Given the description of an element on the screen output the (x, y) to click on. 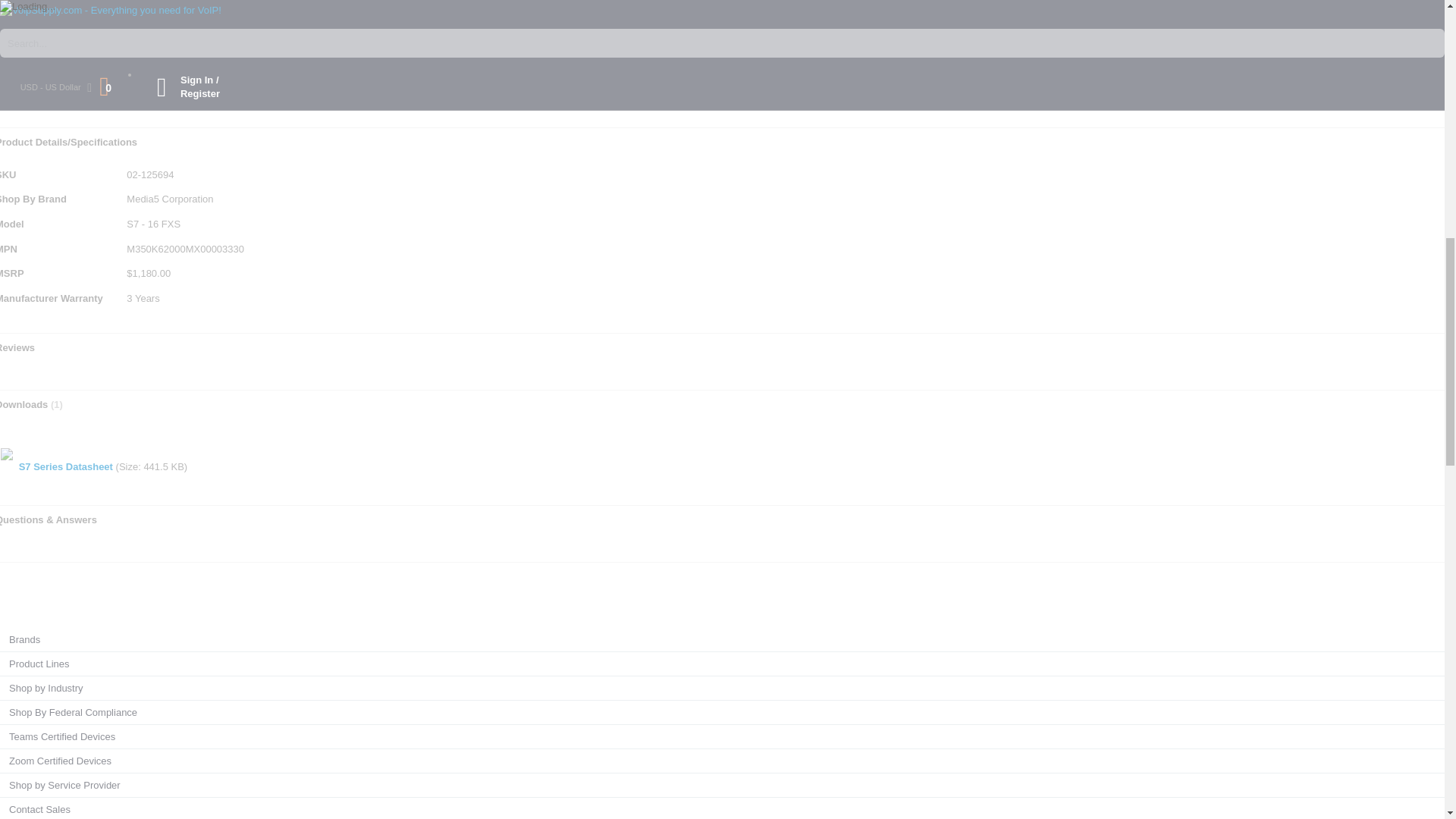
S7 Series Datasheet (65, 466)
S7 Series Datasheet (65, 466)
